Given the description of an element on the screen output the (x, y) to click on. 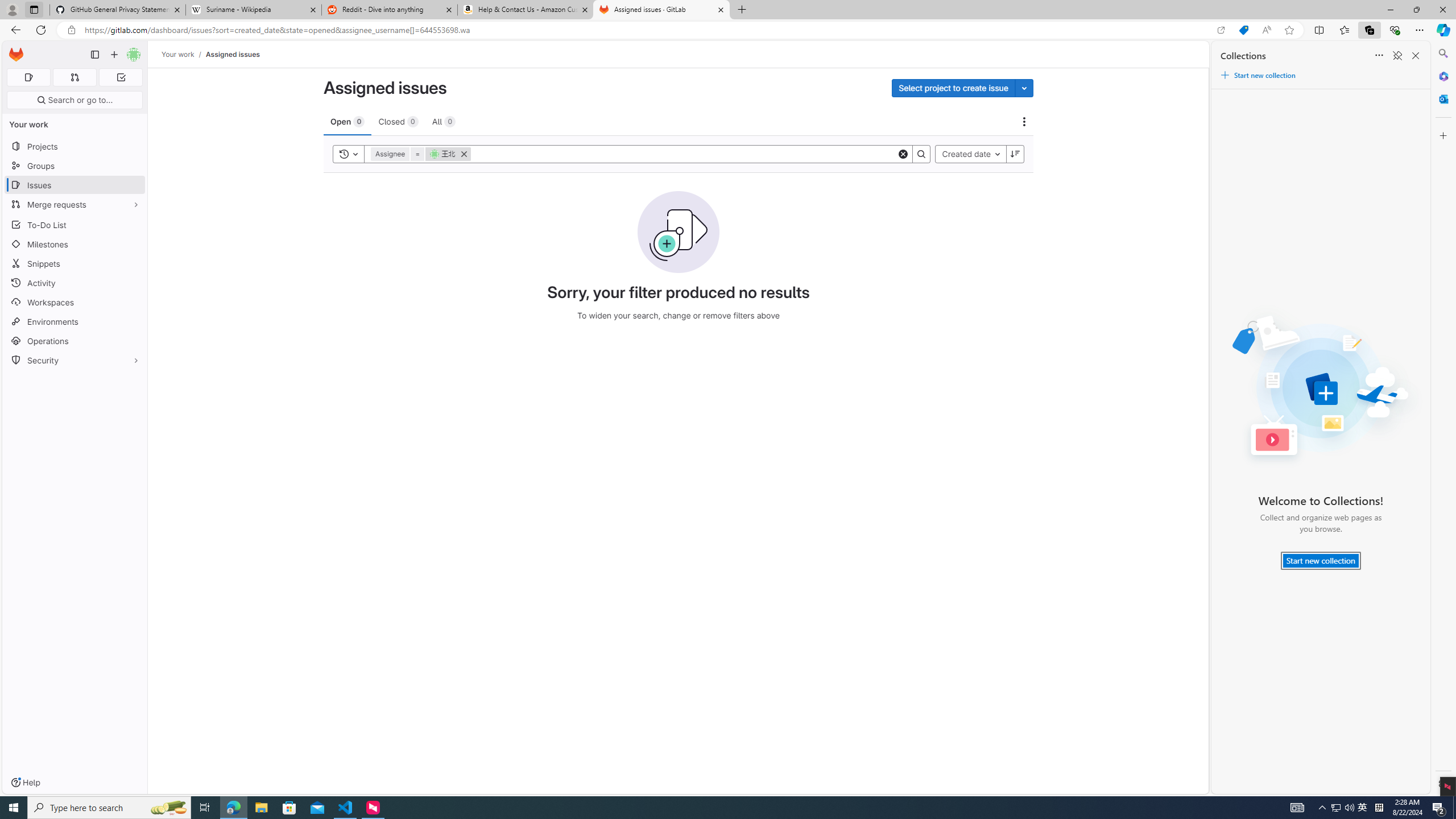
Groups (74, 165)
Activity (74, 282)
Snippets (74, 262)
Environments (74, 321)
Activity (74, 282)
GitHub General Privacy Statement - GitHub Docs (117, 9)
